Given the description of an element on the screen output the (x, y) to click on. 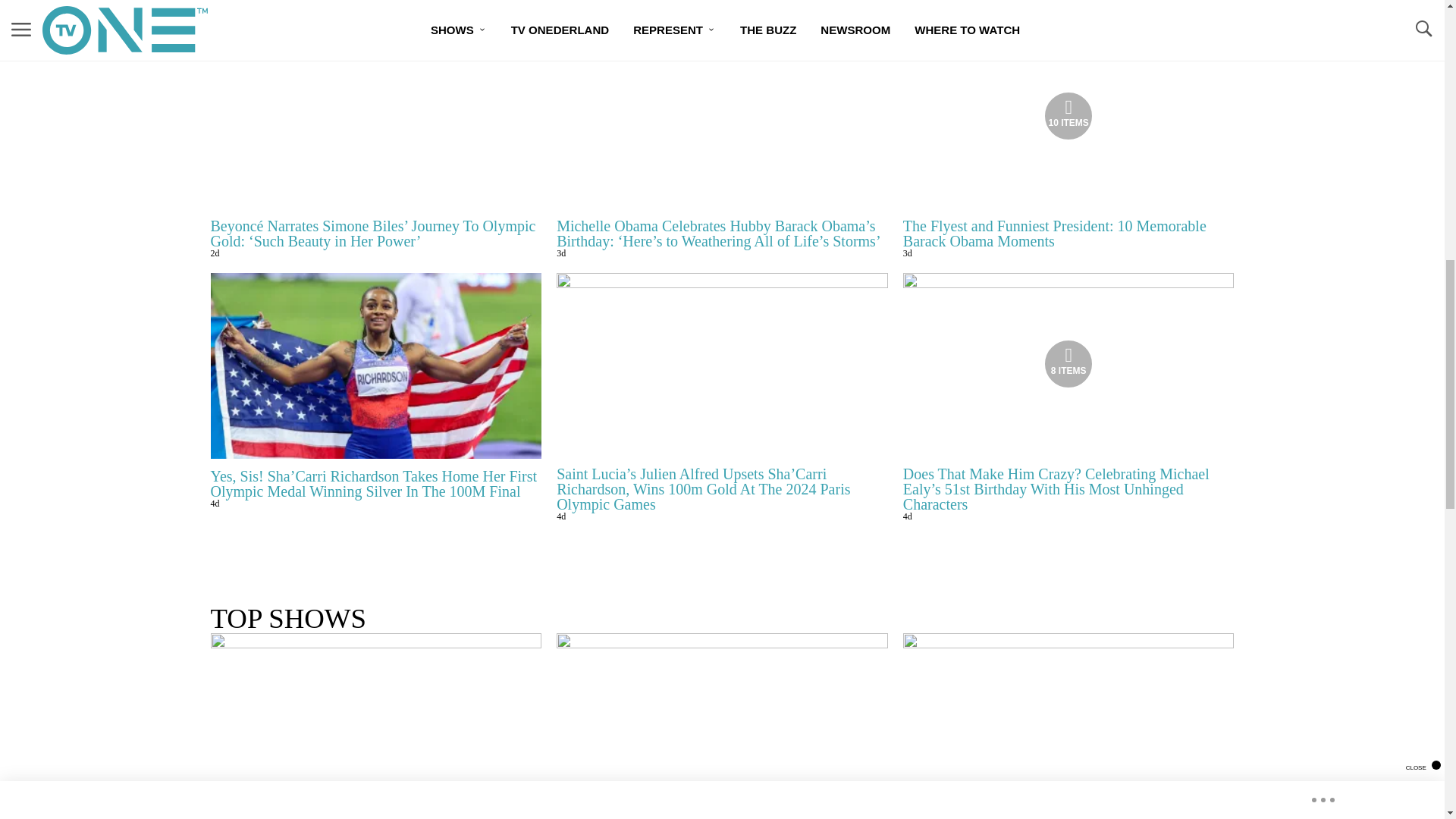
Media Playlist (1068, 115)
Media Playlist (1068, 363)
